Given the description of an element on the screen output the (x, y) to click on. 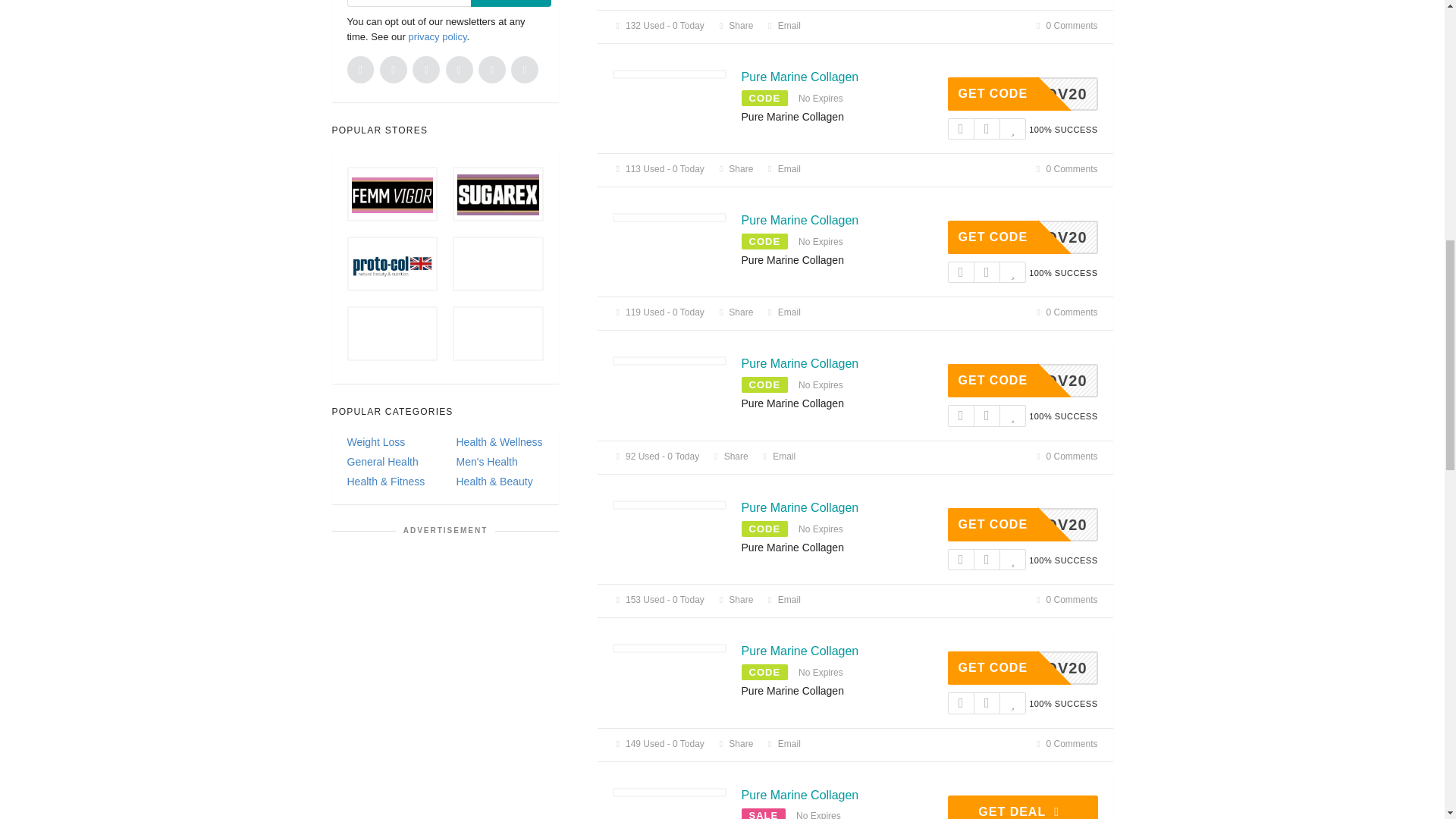
Send this coupon to an email (782, 25)
Share (735, 25)
Coupon Comments (1064, 25)
Email (782, 25)
0 Comments (1064, 25)
Share it with your friend (735, 25)
